Given the description of an element on the screen output the (x, y) to click on. 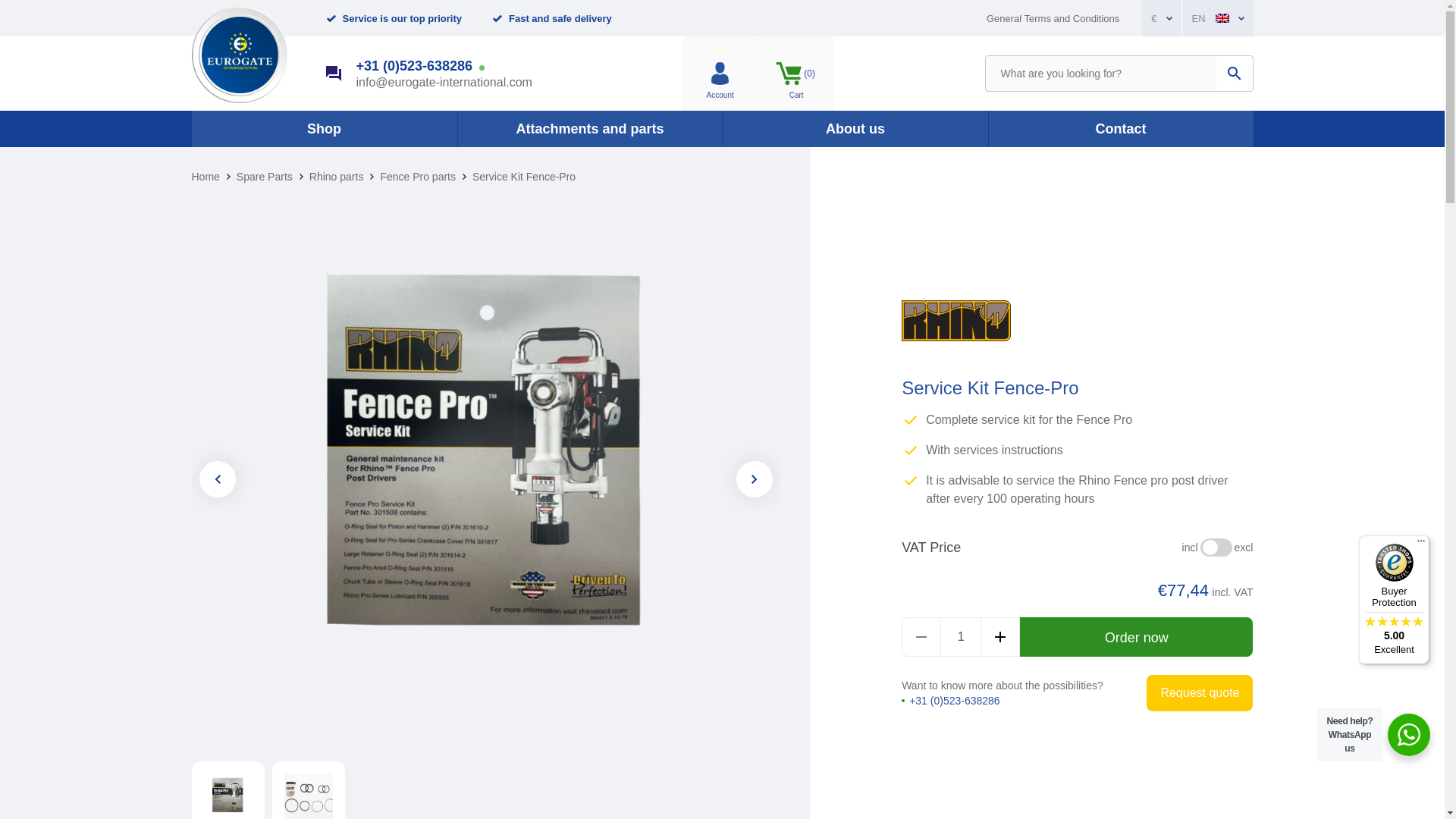
Search for: (796, 73)
Search (1100, 73)
Contact (1233, 73)
Shop (1120, 128)
Account (323, 128)
Search (720, 73)
1 (1233, 73)
Qty (960, 637)
About us (960, 637)
General Terms and Conditions (855, 128)
Search (1053, 18)
Attachments and parts (1233, 73)
